Given the description of an element on the screen output the (x, y) to click on. 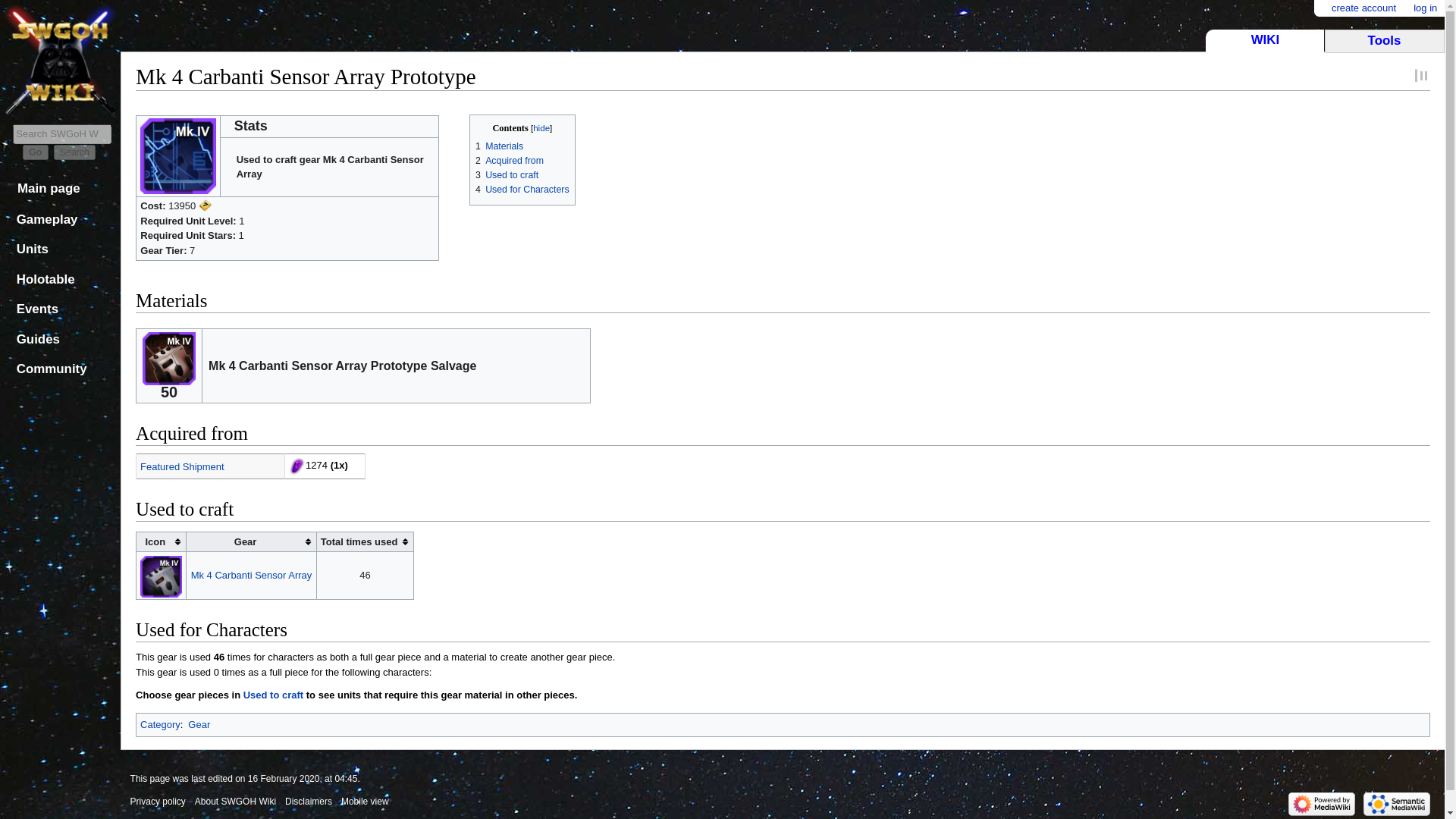
log in (1425, 8)
Category (159, 724)
Featured Shipment (181, 466)
Used to craft (272, 695)
Go (35, 151)
Go (35, 151)
Sort ascending (161, 542)
1 Materials (499, 145)
Search (74, 151)
Sort ascending (250, 542)
3 Used to craft (507, 174)
4 Used for Characters (522, 189)
Sort ascending (364, 542)
create account (1364, 8)
